Given the description of an element on the screen output the (x, y) to click on. 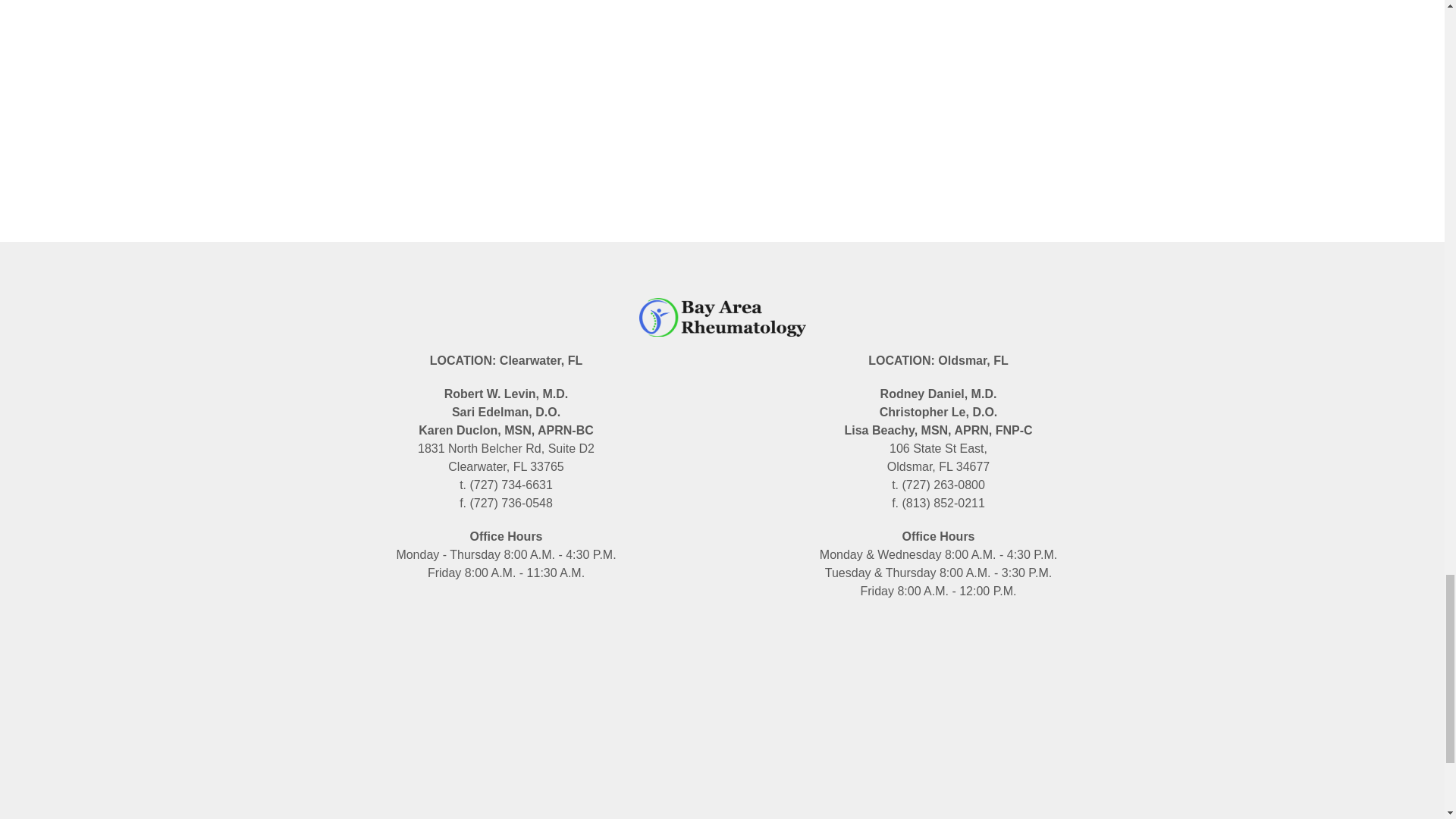
Oldsmar, FL 34677 (938, 736)
Clearwater, FL 33765 (505, 727)
